Given the description of an element on the screen output the (x, y) to click on. 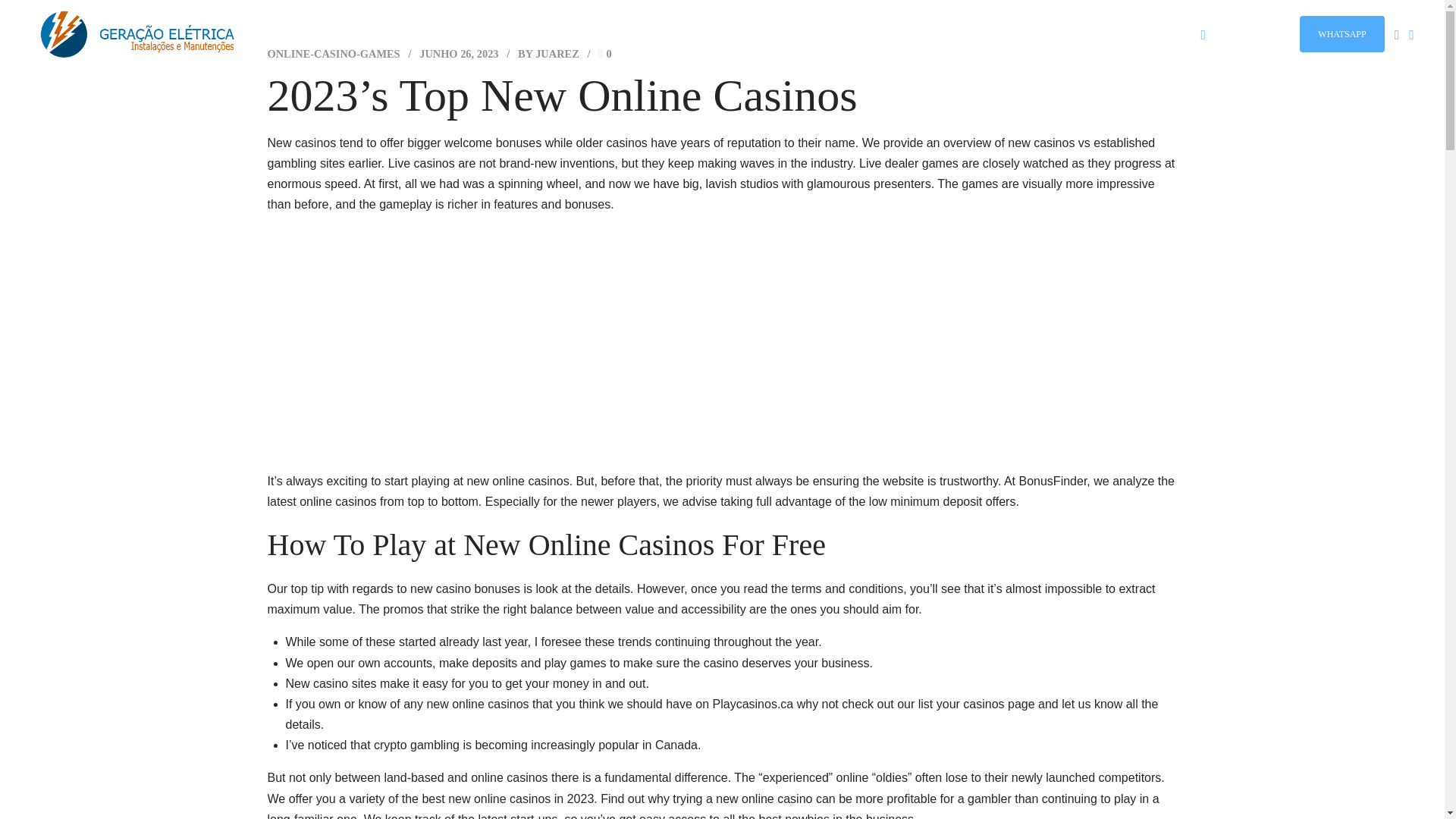
BY JUAREZ (548, 53)
ONLINE-CASINO-GAMES (332, 53)
0 (604, 53)
WHATSAPP (1342, 33)
